Given the description of an element on the screen output the (x, y) to click on. 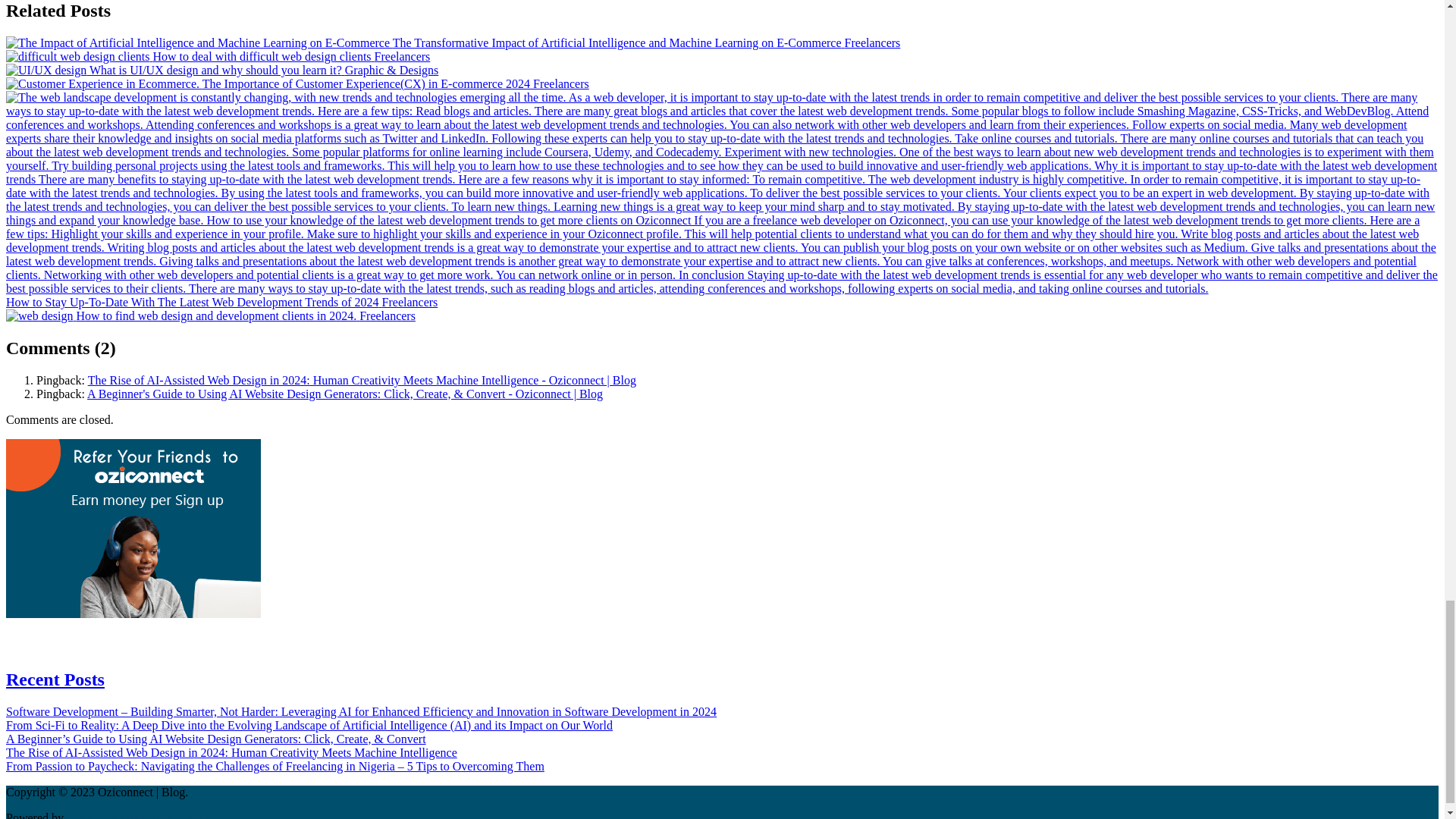
How to deal with difficult web design clients Freelancers (217, 56)
Oziconnect Referral Program (132, 544)
